Given the description of an element on the screen output the (x, y) to click on. 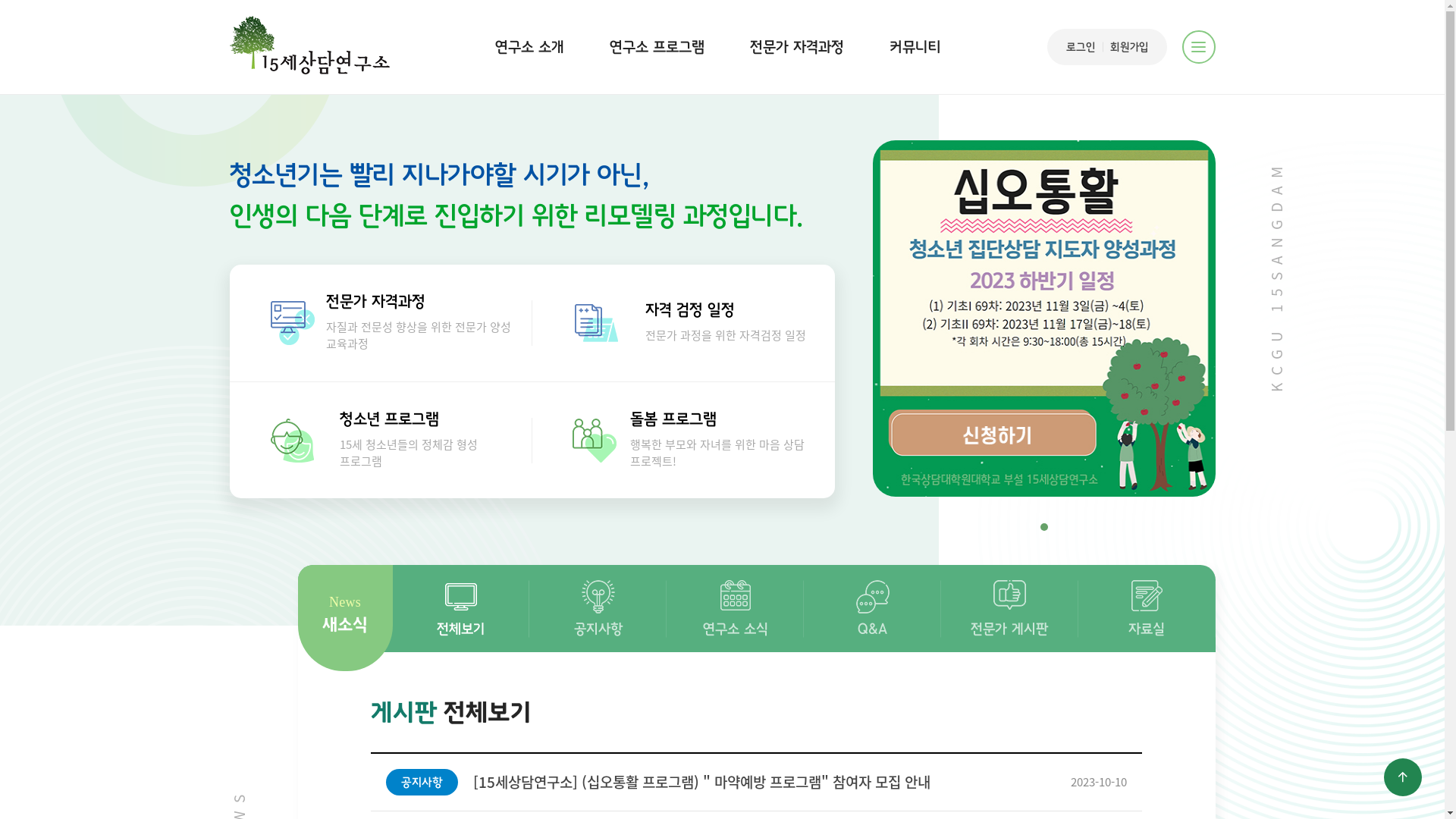
Q&A Element type: text (872, 608)
1 Element type: text (1044, 526)
